Given the description of an element on the screen output the (x, y) to click on. 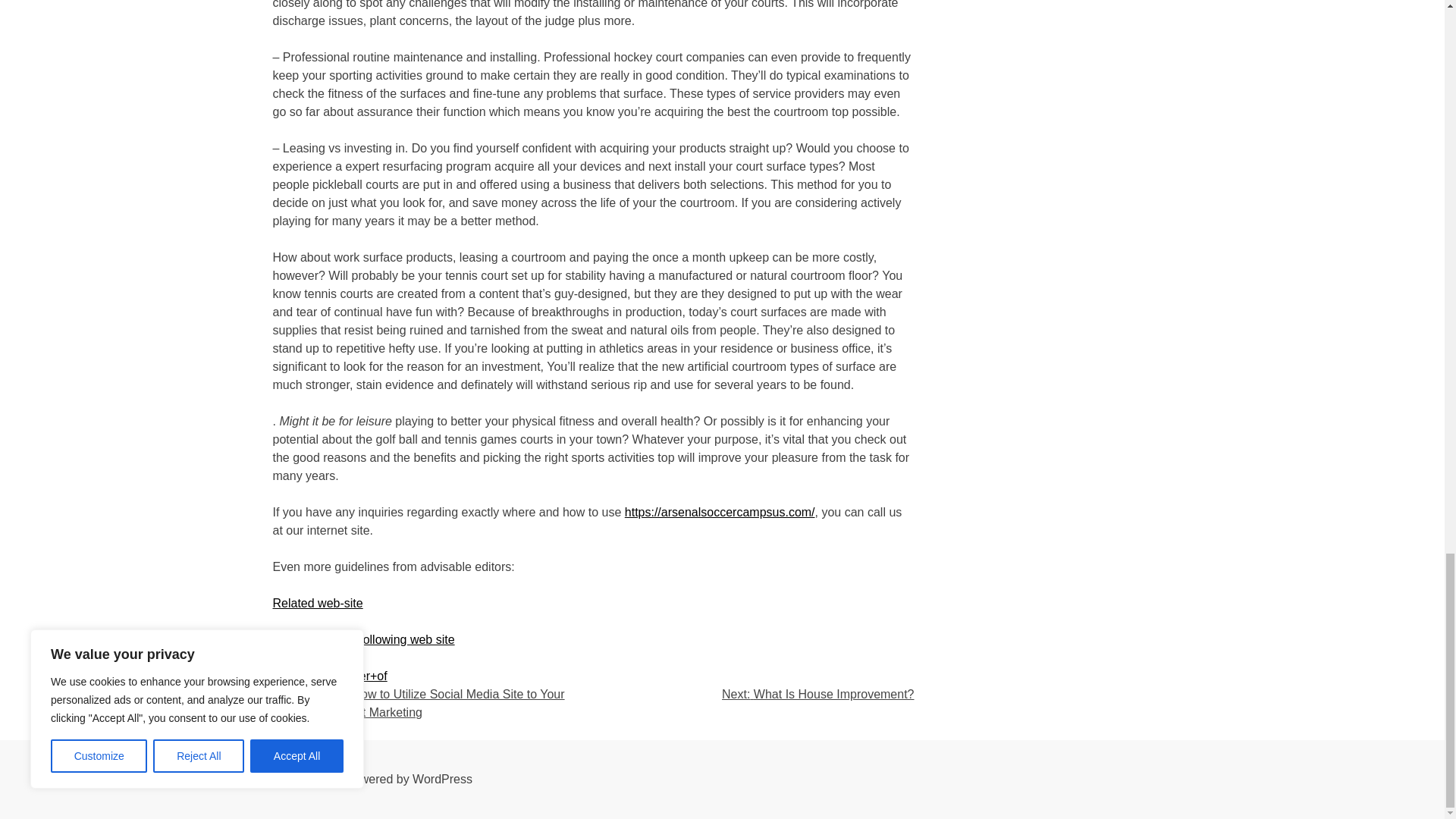
Next: What Is House Improvement? (818, 694)
Related web-site (317, 603)
mouse click the following web site (363, 639)
